Given the description of an element on the screen output the (x, y) to click on. 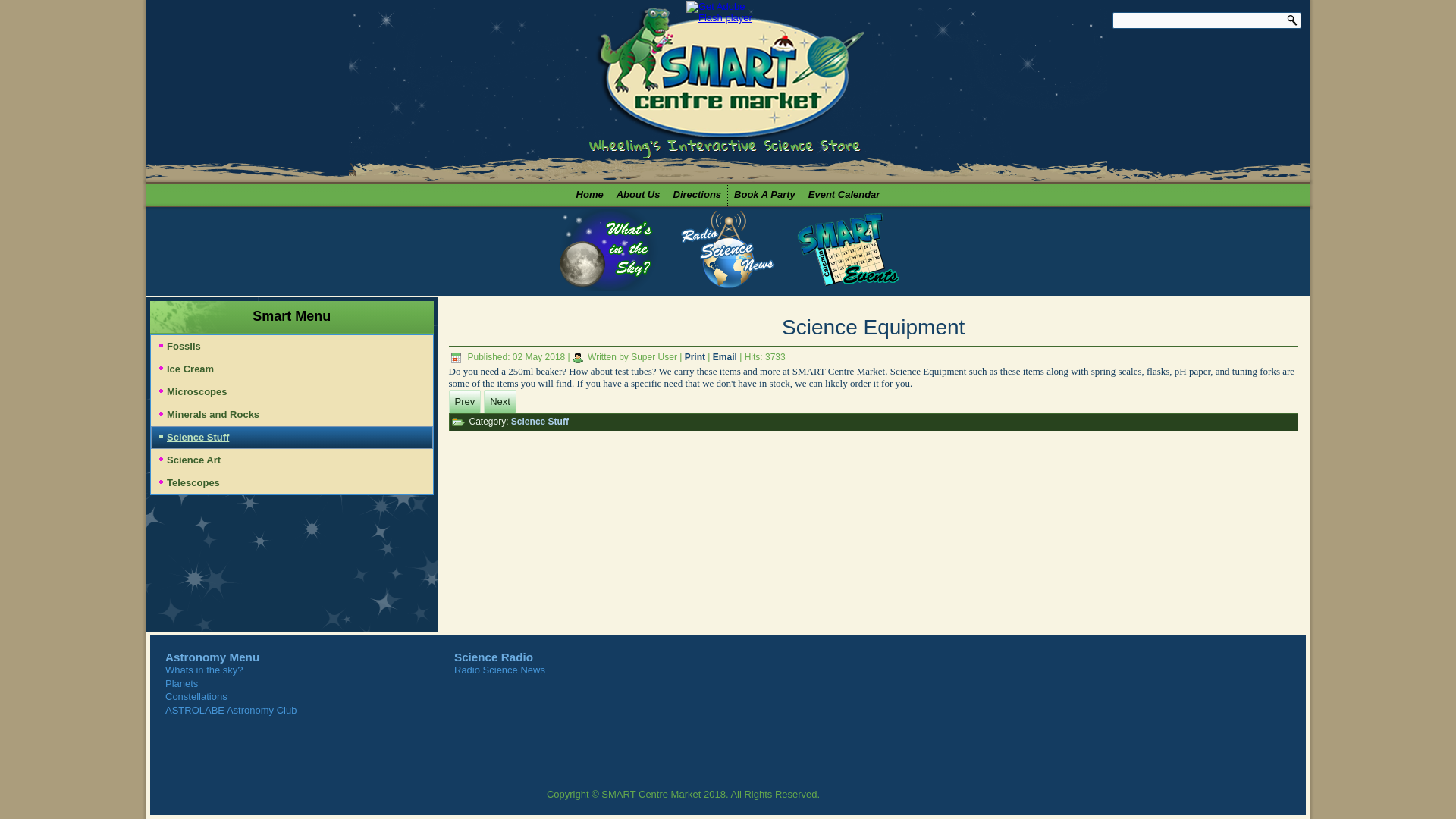
Directions (697, 194)
Science Art (291, 459)
Event Calendar (844, 194)
Planets (181, 683)
Telescopes (291, 482)
Print (695, 357)
Minerals and Rocks (291, 414)
Email this link to a friend (726, 357)
Science Stuff (291, 436)
Radio Science News (499, 669)
Science Stuff (540, 421)
ASTROLABE Astronomy Club (231, 708)
Fossils (291, 345)
Email (726, 357)
Home (590, 194)
